Given the description of an element on the screen output the (x, y) to click on. 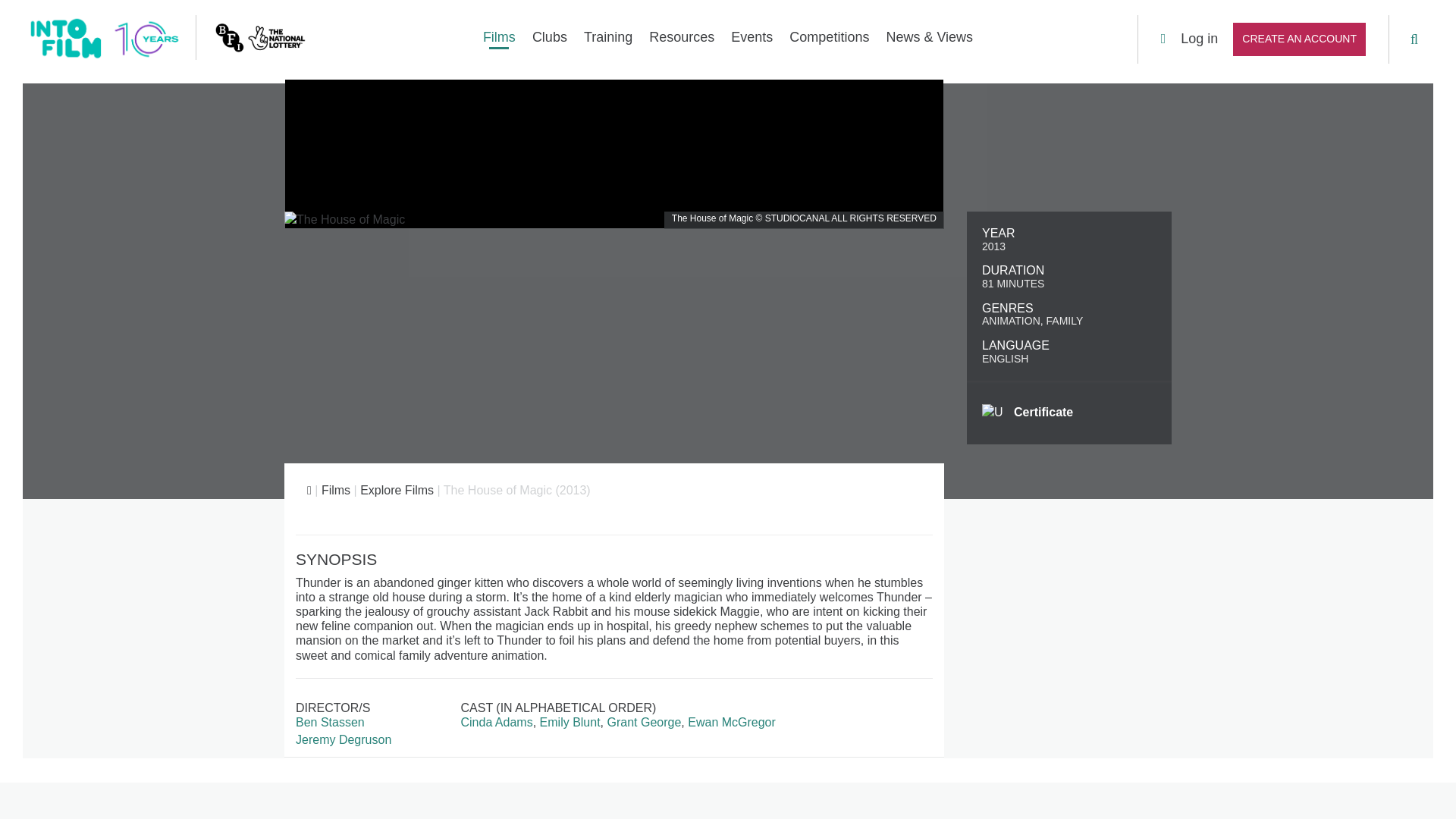
Explore Films (396, 490)
Clubs (549, 41)
Events (751, 41)
Training (607, 41)
Ben Stassen (330, 721)
CREATE AN ACCOUNT (1299, 39)
Log in (1189, 38)
Resources (681, 41)
Films (499, 41)
Films (335, 490)
